Given the description of an element on the screen output the (x, y) to click on. 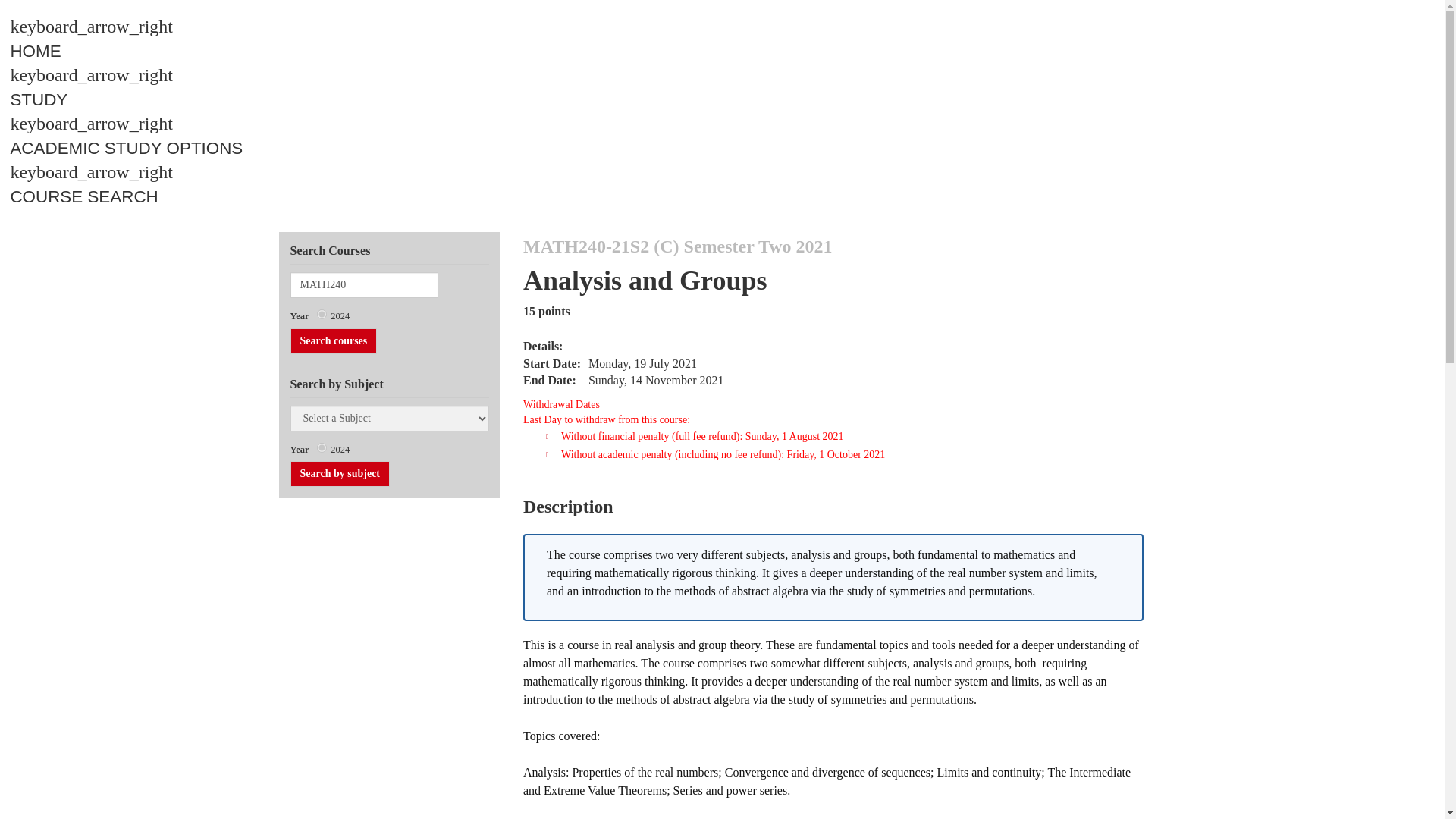
Search by subject (339, 473)
MATH240 (363, 284)
Search courses (333, 340)
2024 (321, 447)
Search courses (333, 340)
Search by subject (339, 473)
MATH240 (363, 284)
2024 (321, 314)
